Given the description of an element on the screen output the (x, y) to click on. 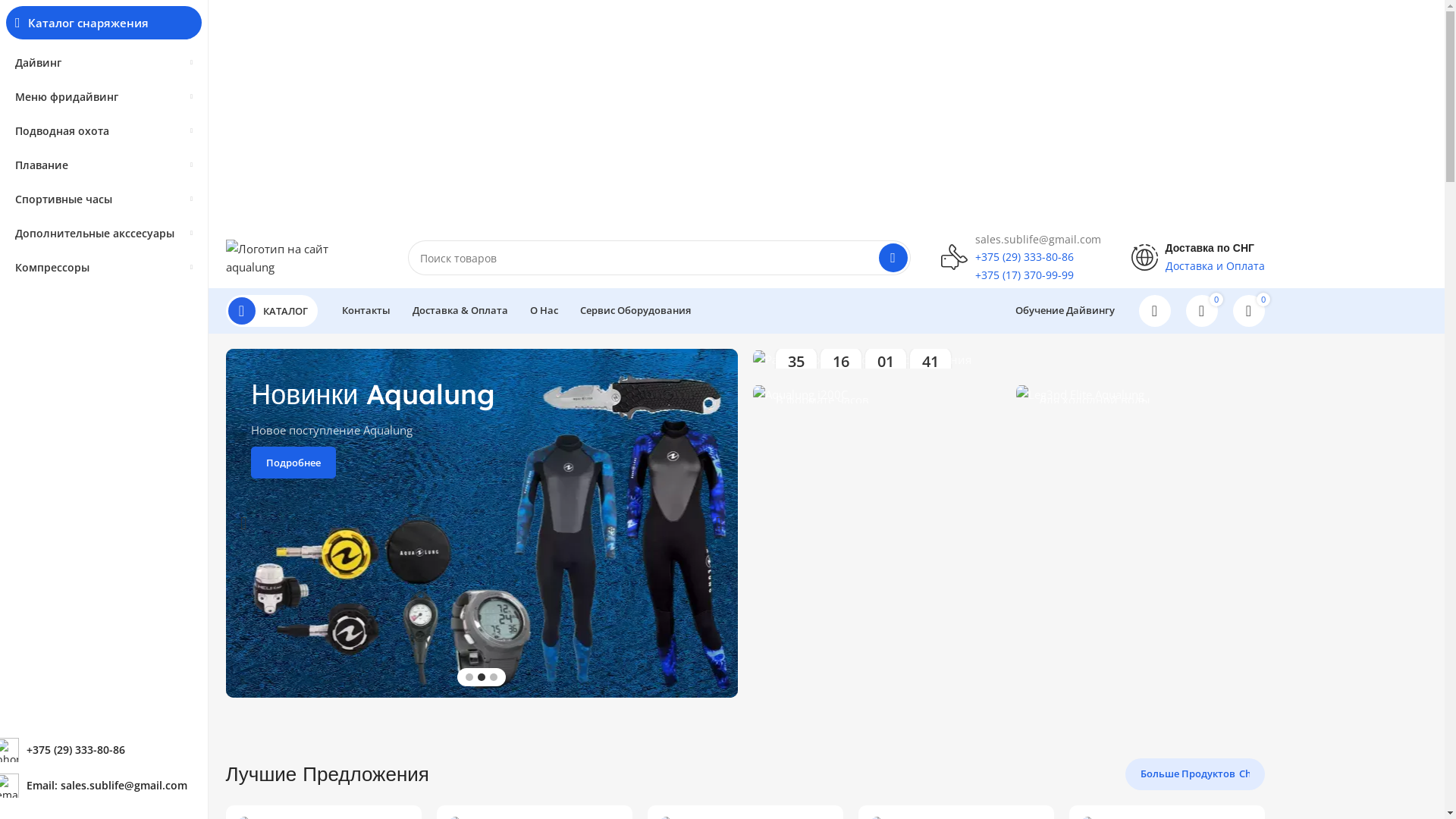
+375 (29) 333-80-86 Element type: text (1024, 256)
chevron-right-primary Element type: hover (1244, 773)
0 Element type: text (1248, 310)
0 Element type: text (1201, 310)
35
16
01
54 Element type: text (1008, 358)
Advertisement Element type: hover (744, 113)
